Given the description of an element on the screen output the (x, y) to click on. 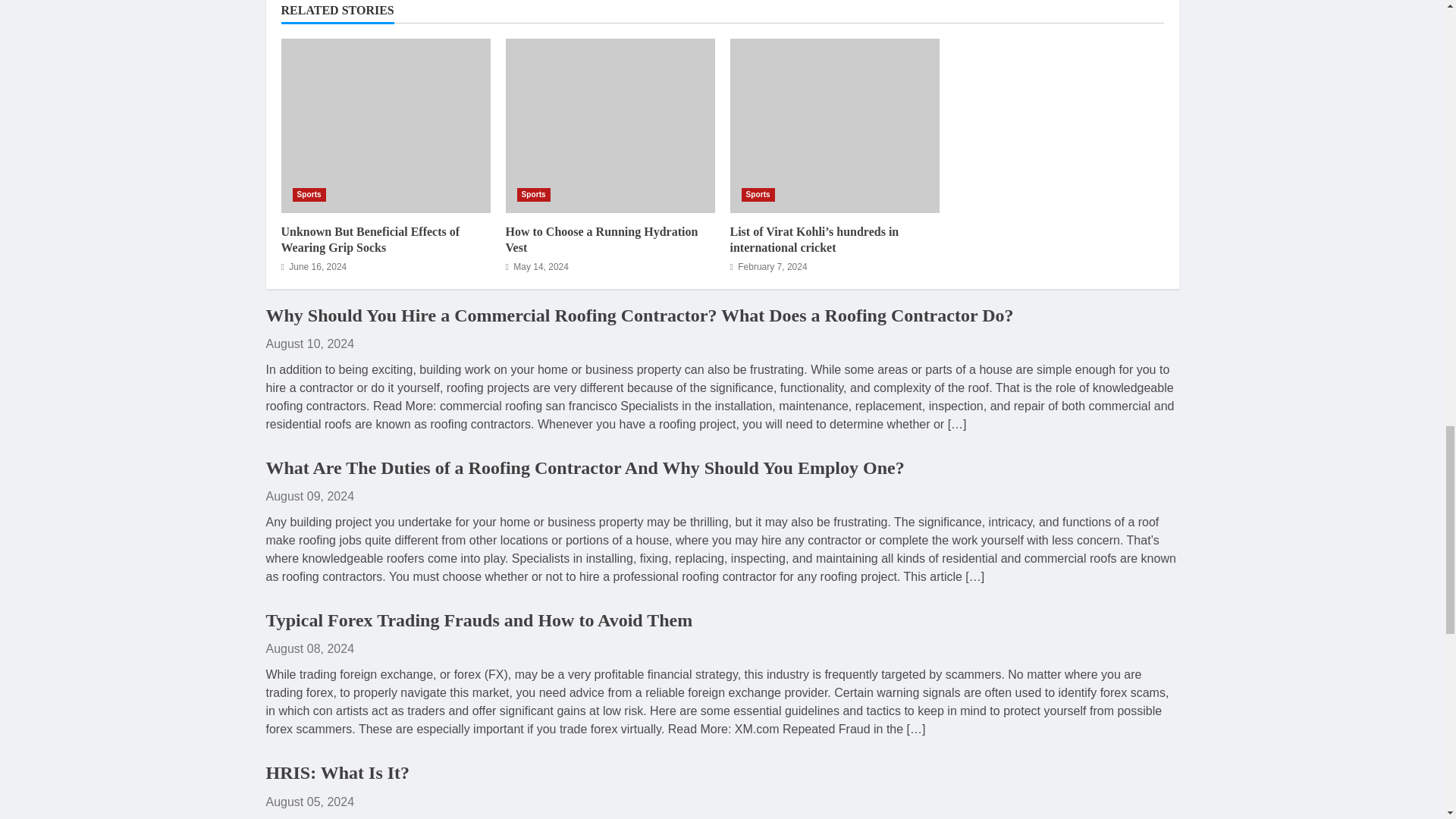
How to Choose a Running Hydration Vest (601, 239)
Sports (533, 194)
Unknown But Beneficial Effects of Wearing Grip Socks (370, 239)
Sports (757, 194)
How to Choose a Running Hydration Vest (609, 125)
Typical Forex Trading Frauds and How to Avoid Them (478, 619)
Sports (309, 194)
HRIS: What Is It? (336, 772)
